Given the description of an element on the screen output the (x, y) to click on. 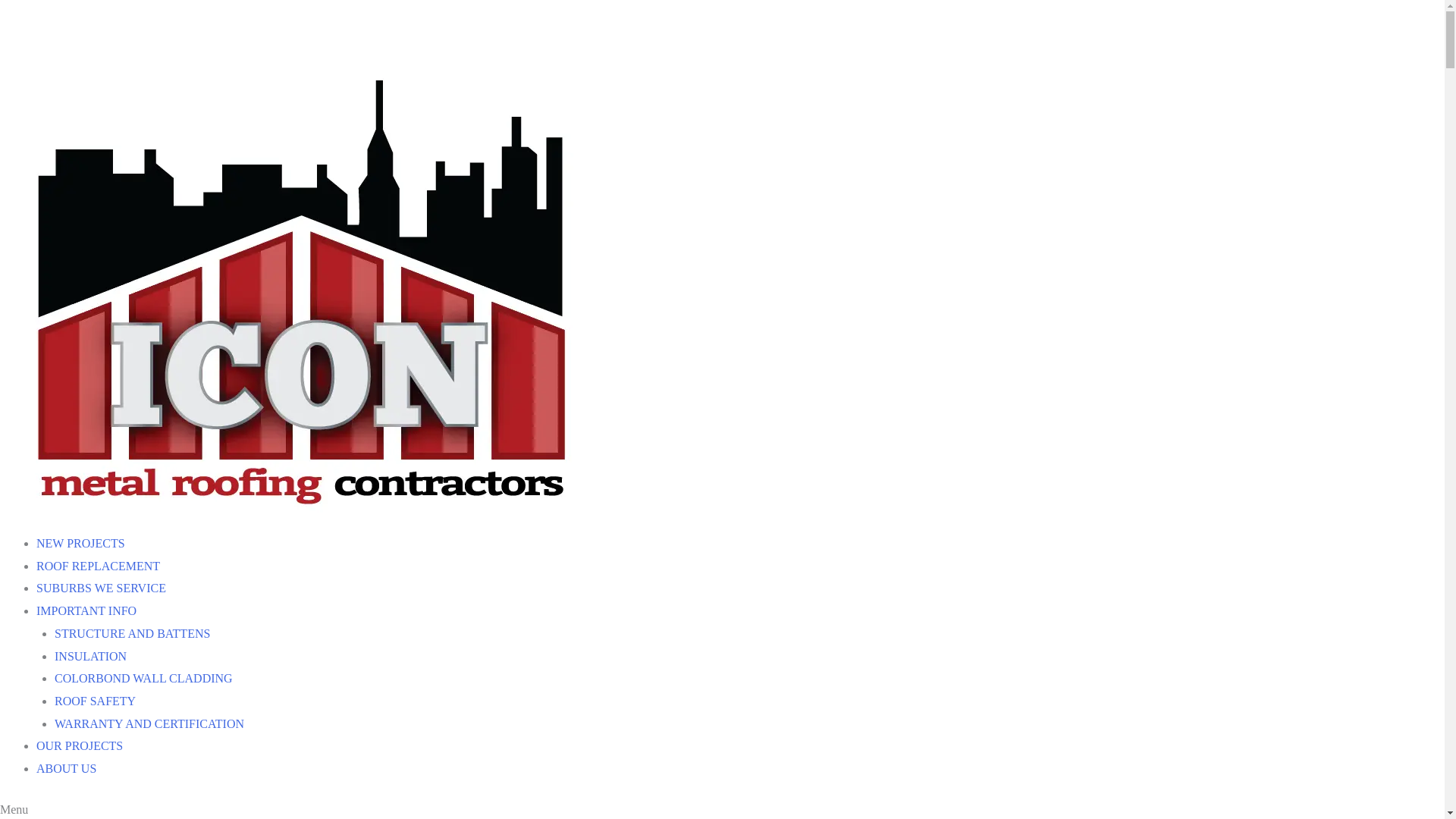
INSULATION Element type: text (90, 655)
ABOUT US Element type: text (66, 768)
OUR PROJECTS Element type: text (79, 745)
ROOF SAFETY Element type: text (94, 700)
ROOF REPLACEMENT Element type: text (98, 565)
NEW PROJECTS Element type: text (80, 542)
SUBURBS WE SERVICE Element type: text (101, 587)
WARRANTY AND CERTIFICATION Element type: text (149, 723)
STRUCTURE AND BATTENS Element type: text (132, 633)
IMPORTANT INFO Element type: text (86, 610)
COLORBOND WALL CLADDING Element type: text (143, 677)
